Given the description of an element on the screen output the (x, y) to click on. 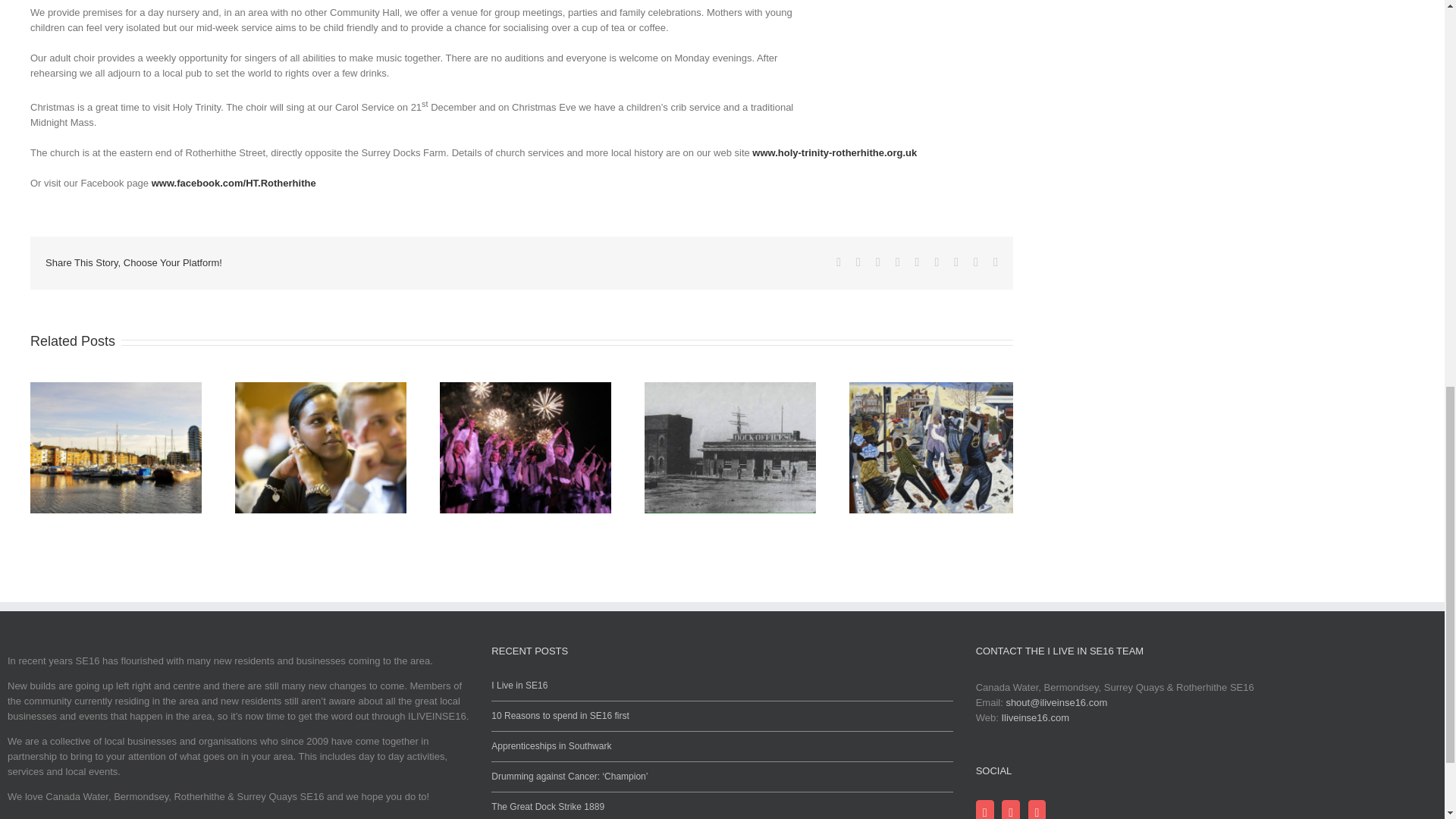
Holy Trinity Rotherhithe (233, 183)
Holy Trinity Rotherhithe (834, 152)
